Given the description of an element on the screen output the (x, y) to click on. 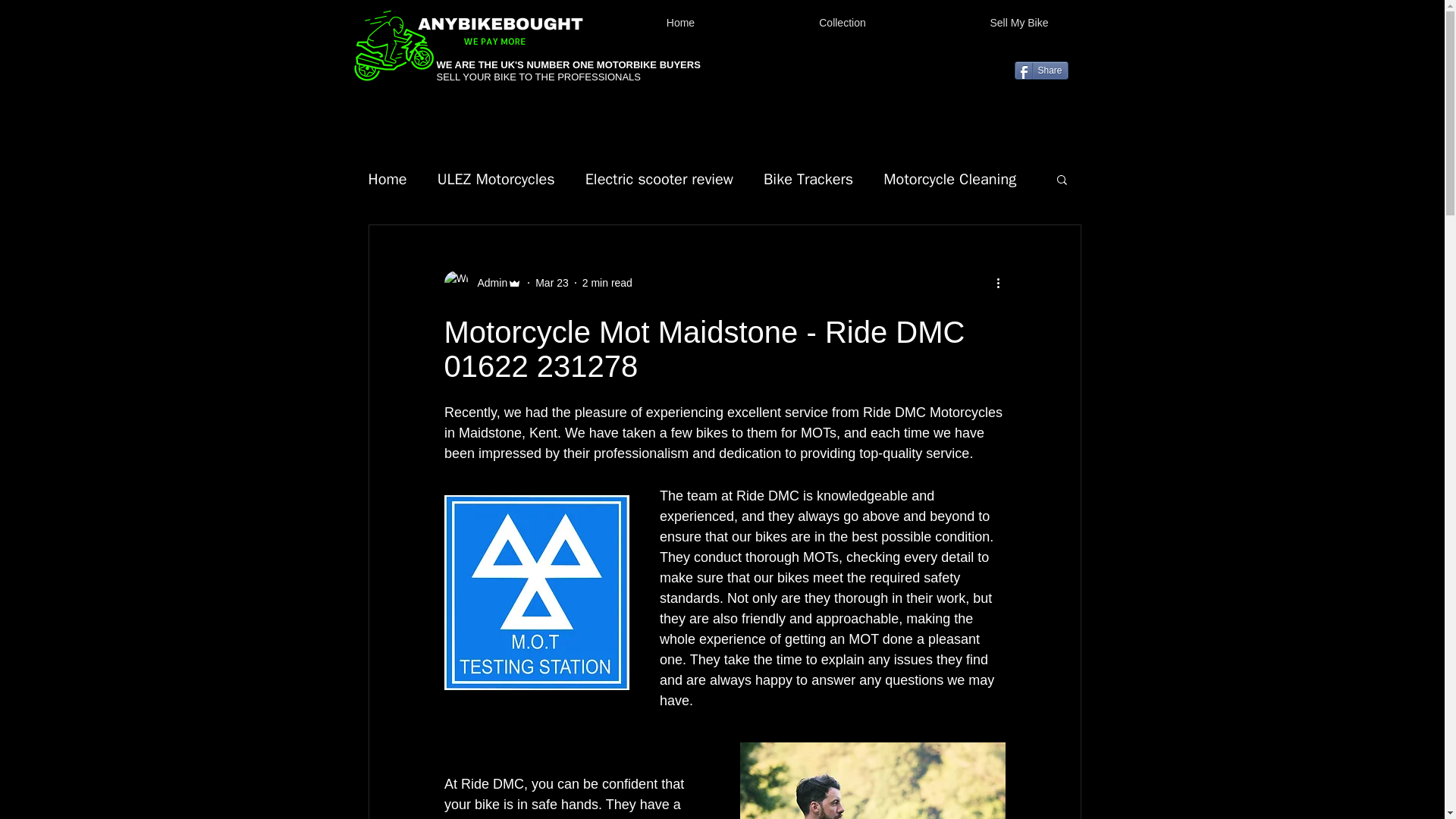
Electric scooter review (659, 178)
Mar 23 (552, 282)
Admin (483, 282)
2 min read (606, 282)
Home (681, 22)
Sell My Bike (1018, 22)
ULEZ Motorcycles (496, 178)
Share (1041, 70)
Collection (842, 22)
Home (387, 178)
